Given the description of an element on the screen output the (x, y) to click on. 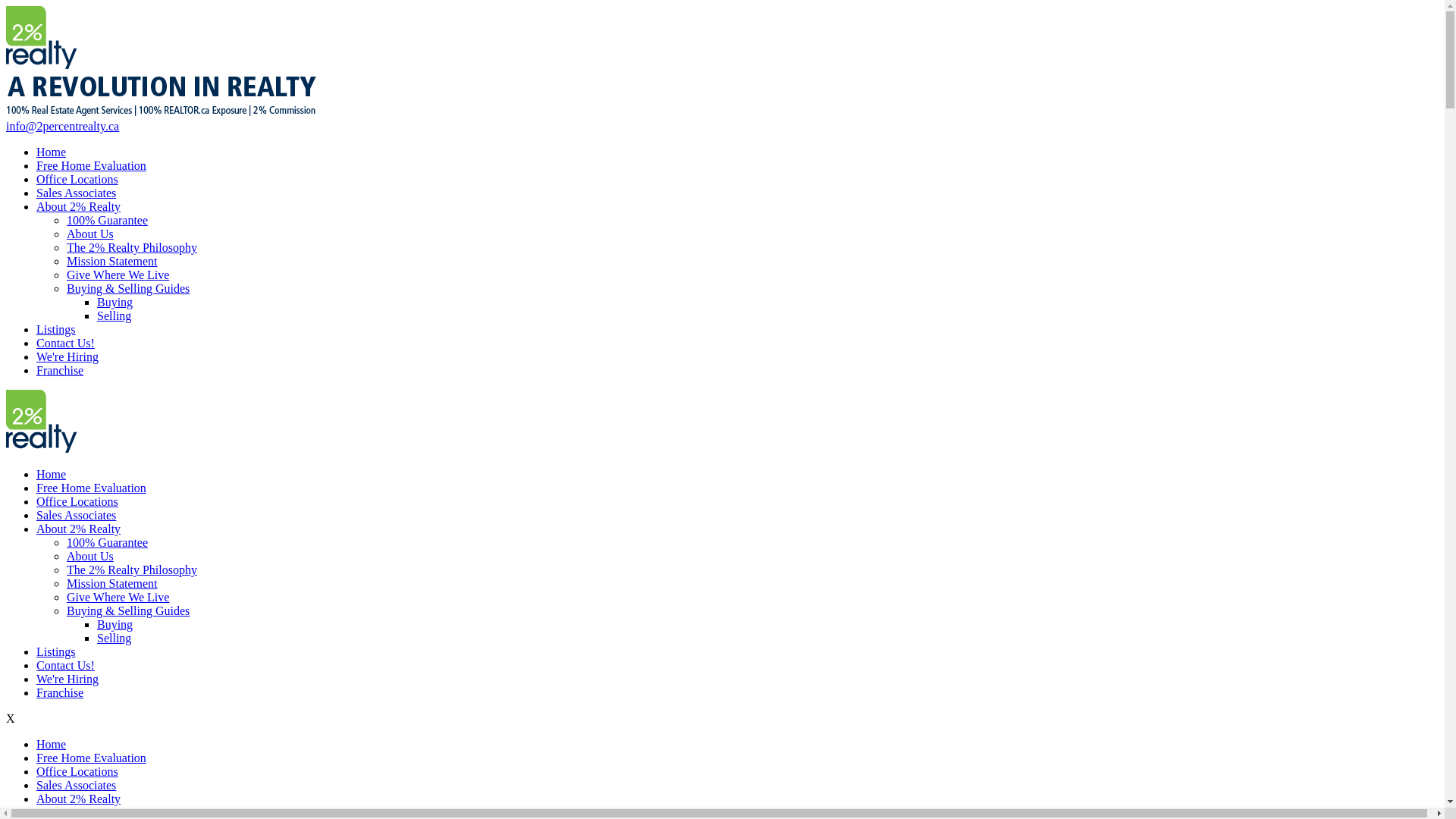
Contact Us! Element type: text (65, 342)
Buying Element type: text (114, 301)
Mission Statement Element type: text (111, 260)
Sales Associates Element type: text (76, 784)
Office Locations Element type: text (77, 771)
About 2% Realty Element type: text (78, 528)
Buying & Selling Guides Element type: text (127, 610)
Sales Associates Element type: text (76, 192)
Listings Element type: text (55, 651)
Franchise Element type: text (59, 692)
Franchise Element type: text (59, 370)
We're Hiring Element type: text (67, 356)
info@2percentrealty.ca Element type: text (62, 125)
About Us Element type: text (89, 555)
About 2% Realty Element type: text (78, 798)
Give Where We Live Element type: text (117, 274)
100% Guarantee Element type: text (106, 219)
Buying Element type: text (114, 624)
About 2% Realty Element type: text (78, 206)
Home Element type: text (50, 473)
About Us Element type: text (89, 233)
Home Element type: text (50, 151)
Sales Associates Element type: text (76, 514)
The 2% Realty Philosophy Element type: text (131, 247)
Office Locations Element type: text (77, 501)
Give Where We Live Element type: text (117, 596)
100% Guarantee Element type: text (106, 542)
The 2% Realty Philosophy Element type: text (131, 569)
Free Home Evaluation Element type: text (91, 487)
We're Hiring Element type: text (67, 678)
Selling Element type: text (114, 637)
Free Home Evaluation Element type: text (91, 757)
Buying & Selling Guides Element type: text (127, 288)
Free Home Evaluation Element type: text (91, 165)
Office Locations Element type: text (77, 178)
Contact Us! Element type: text (65, 664)
Selling Element type: text (114, 315)
Home Element type: text (50, 743)
Mission Statement Element type: text (111, 583)
Listings Element type: text (55, 329)
